Given the description of an element on the screen output the (x, y) to click on. 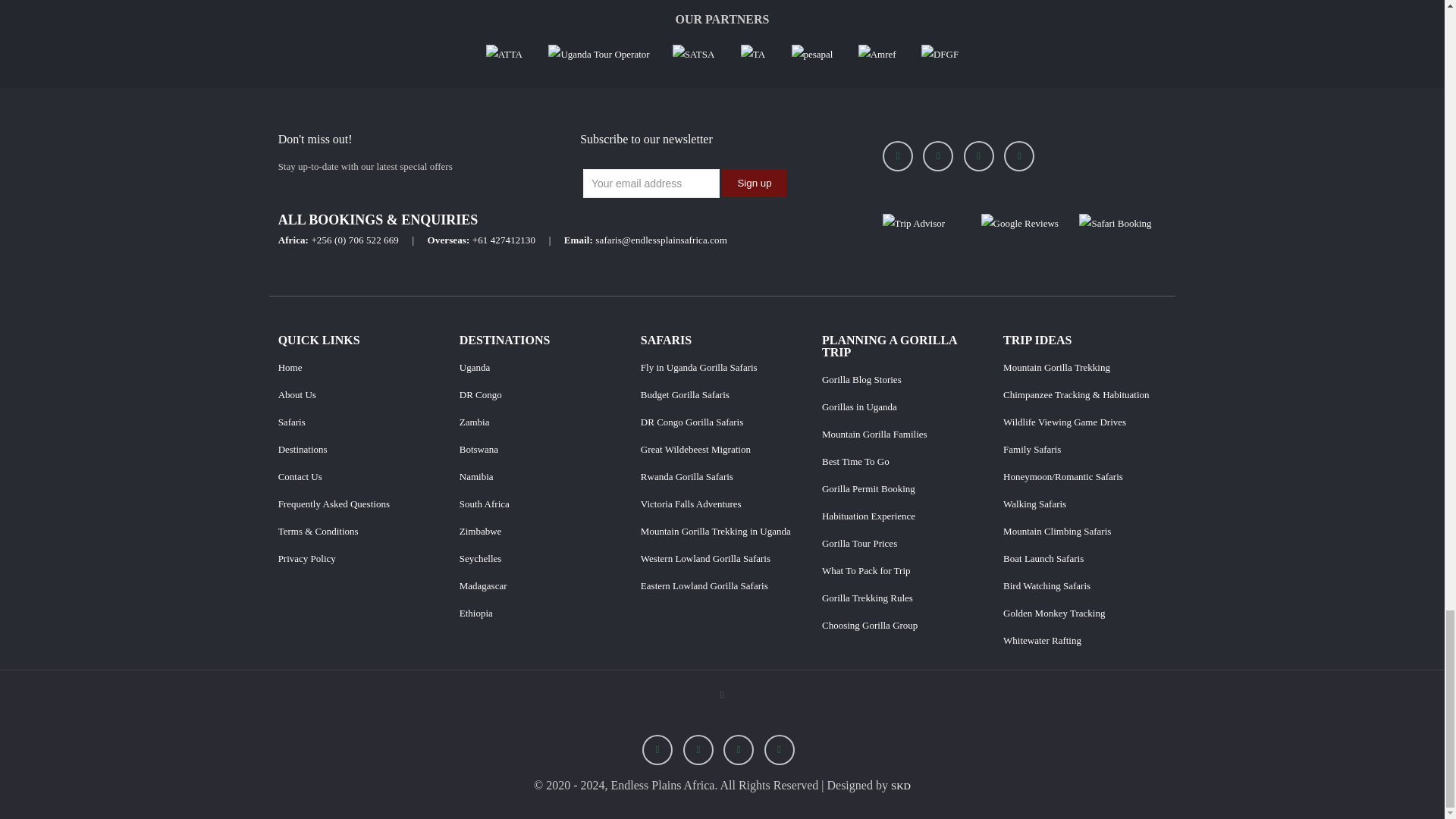
Association of Uganda Tour Operators (598, 52)
Safari Booking (1114, 223)
Sign up (754, 182)
Google Reviews (1019, 223)
pesapal (813, 52)
Diana Fossey Gorilla Fund (939, 52)
Southern Africa Tourism Services Association (693, 52)
Trip Advisor (913, 223)
AMREF (878, 52)
Tourism Australia (753, 52)
